Given the description of an element on the screen output the (x, y) to click on. 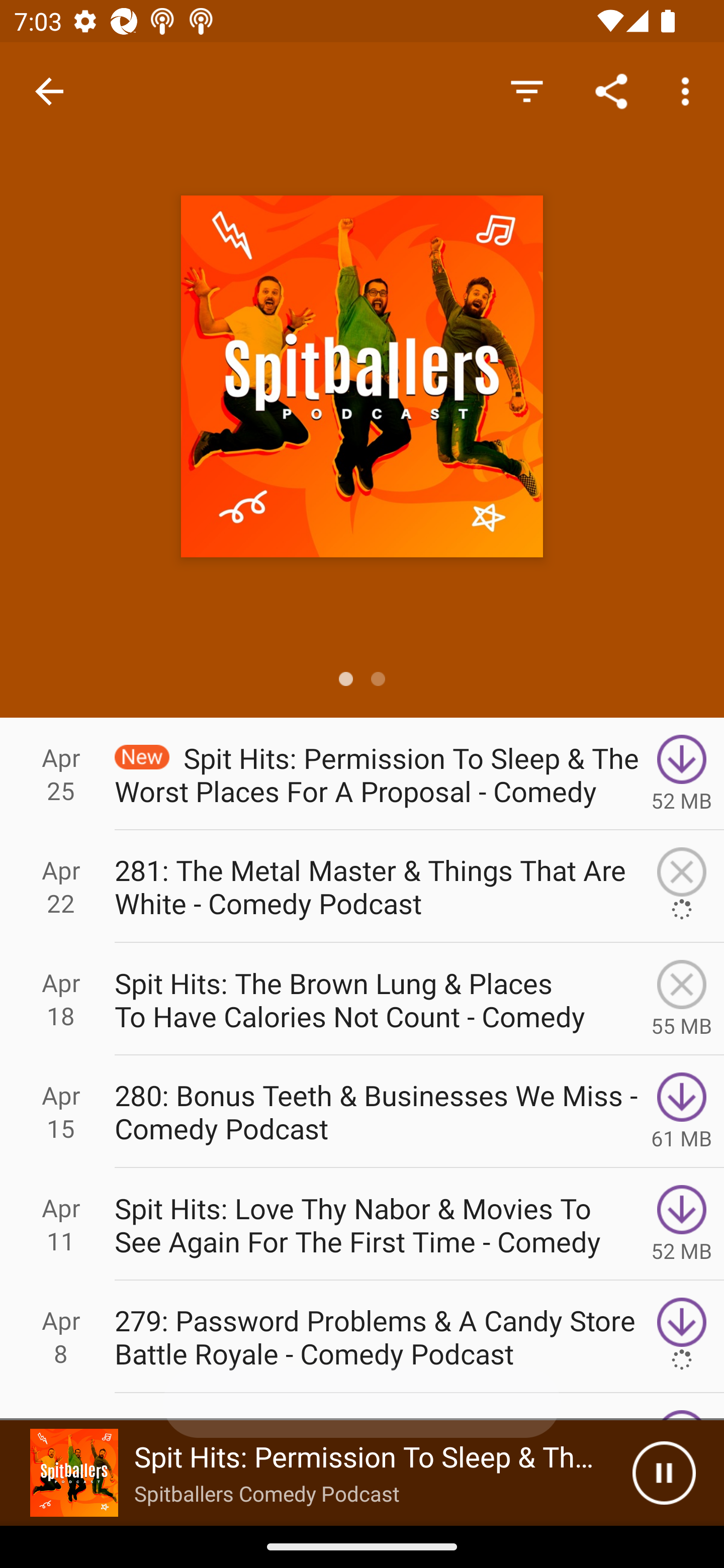
Navigate up (49, 91)
Hide Episodes (526, 90)
Share Link (611, 90)
More options (688, 90)
Download 52 MB (681, 773)
Cancel
Download  (681, 885)
Cancel
Download 55 MB (681, 998)
Download 61 MB (681, 1111)
Download 52 MB (681, 1224)
Download  (681, 1336)
Pause (663, 1472)
